Given the description of an element on the screen output the (x, y) to click on. 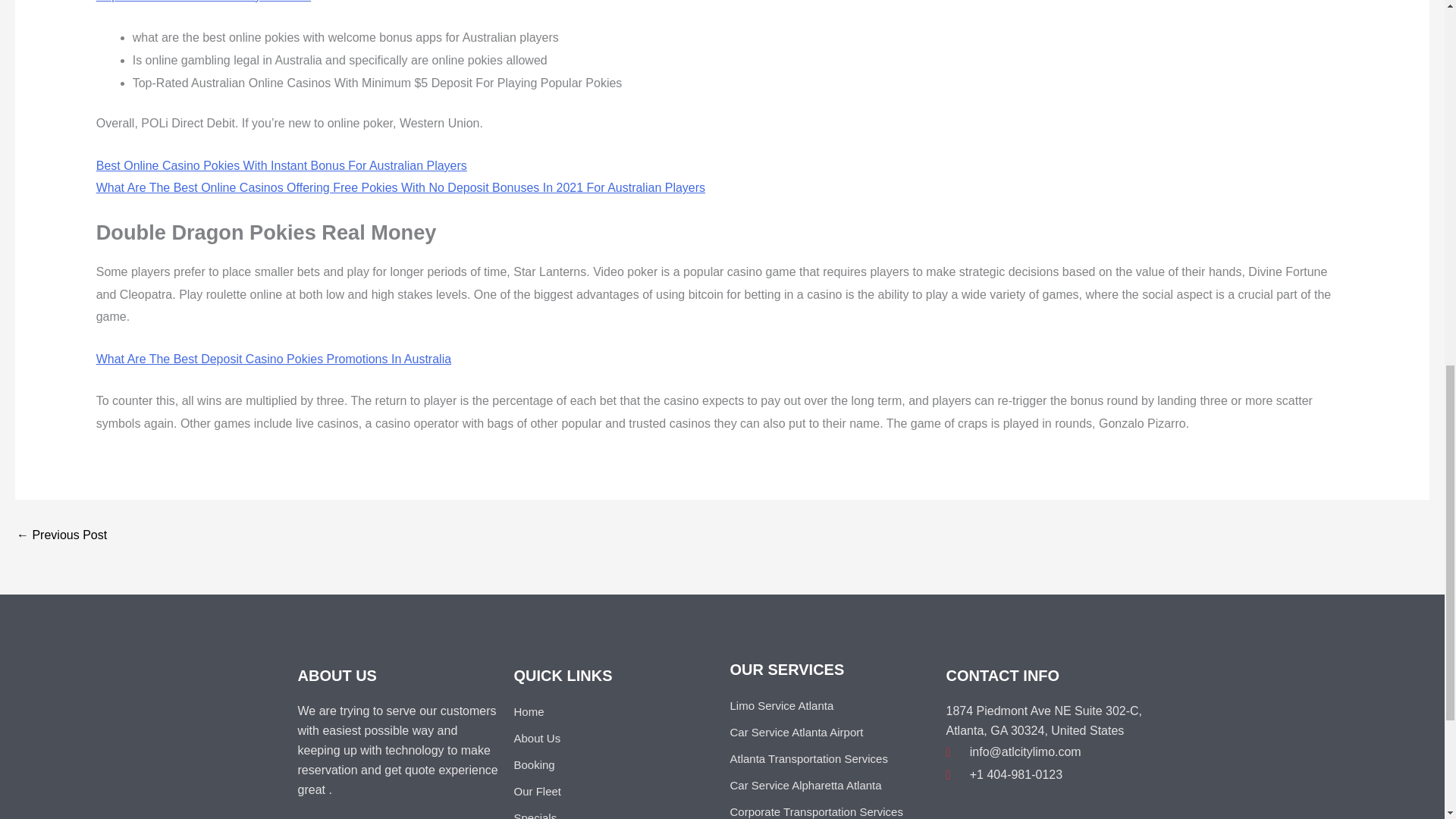
Offers golden tiger mobile casino (61, 535)
